Given the description of an element on the screen output the (x, y) to click on. 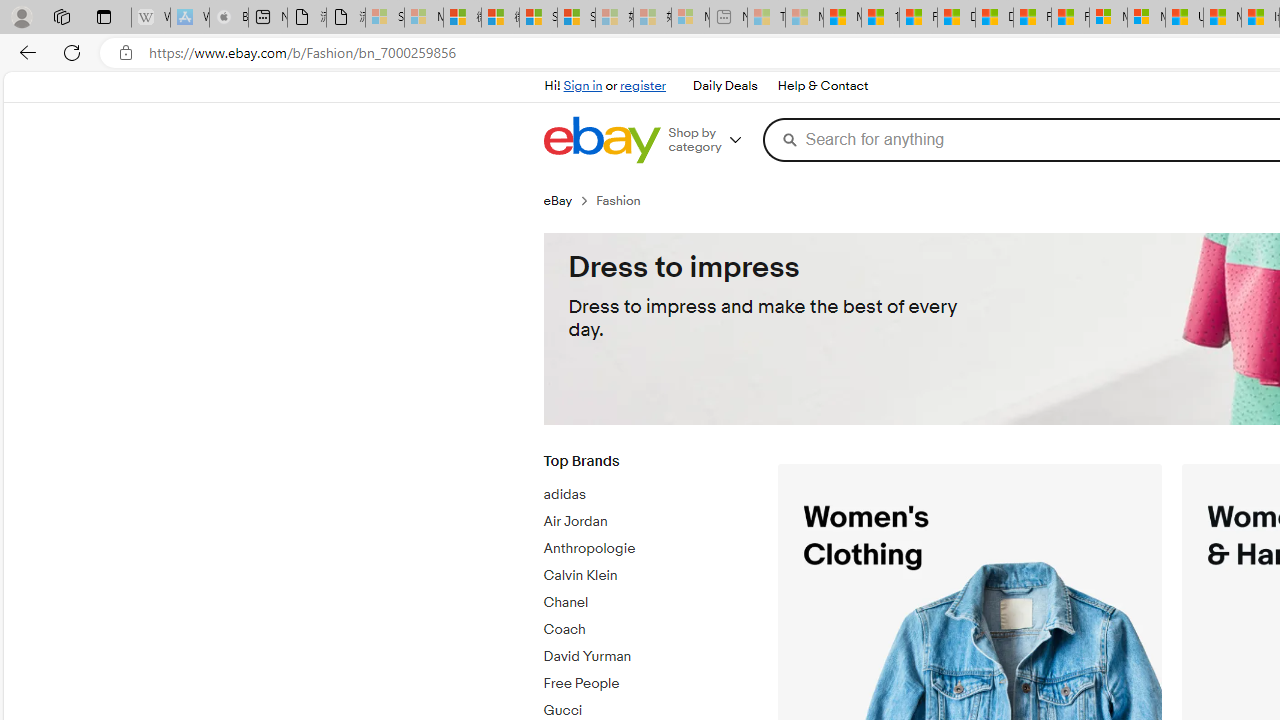
eBay Home (601, 139)
Free People (645, 680)
David Yurman (645, 657)
Chanel (645, 599)
Help & Contact (822, 86)
Drinking tea every day is proven to delay biological aging (993, 17)
